Given the description of an element on the screen output the (x, y) to click on. 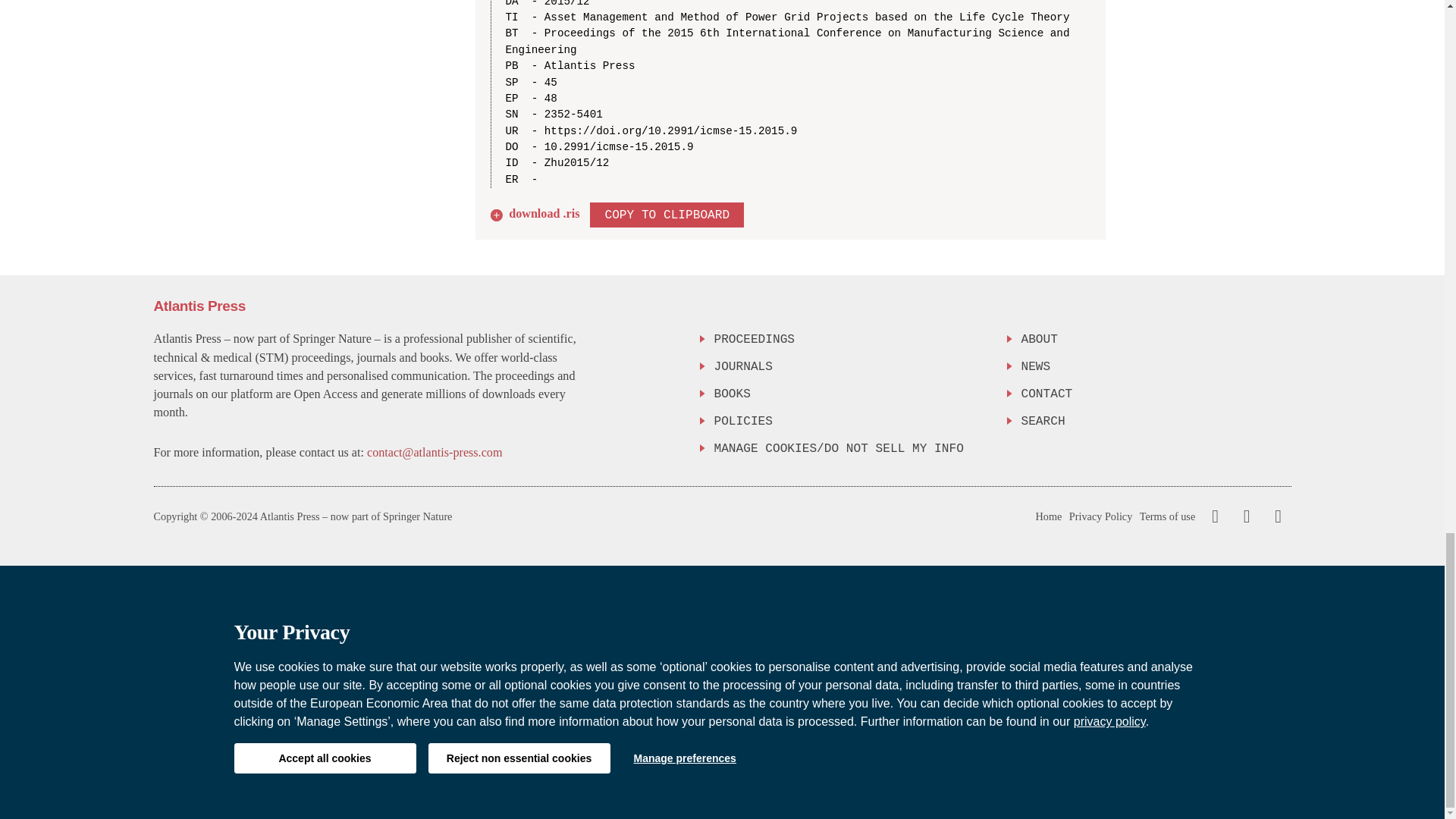
Twitter (1243, 516)
Facebook (1215, 516)
LinkedIn (1275, 516)
